Given the description of an element on the screen output the (x, y) to click on. 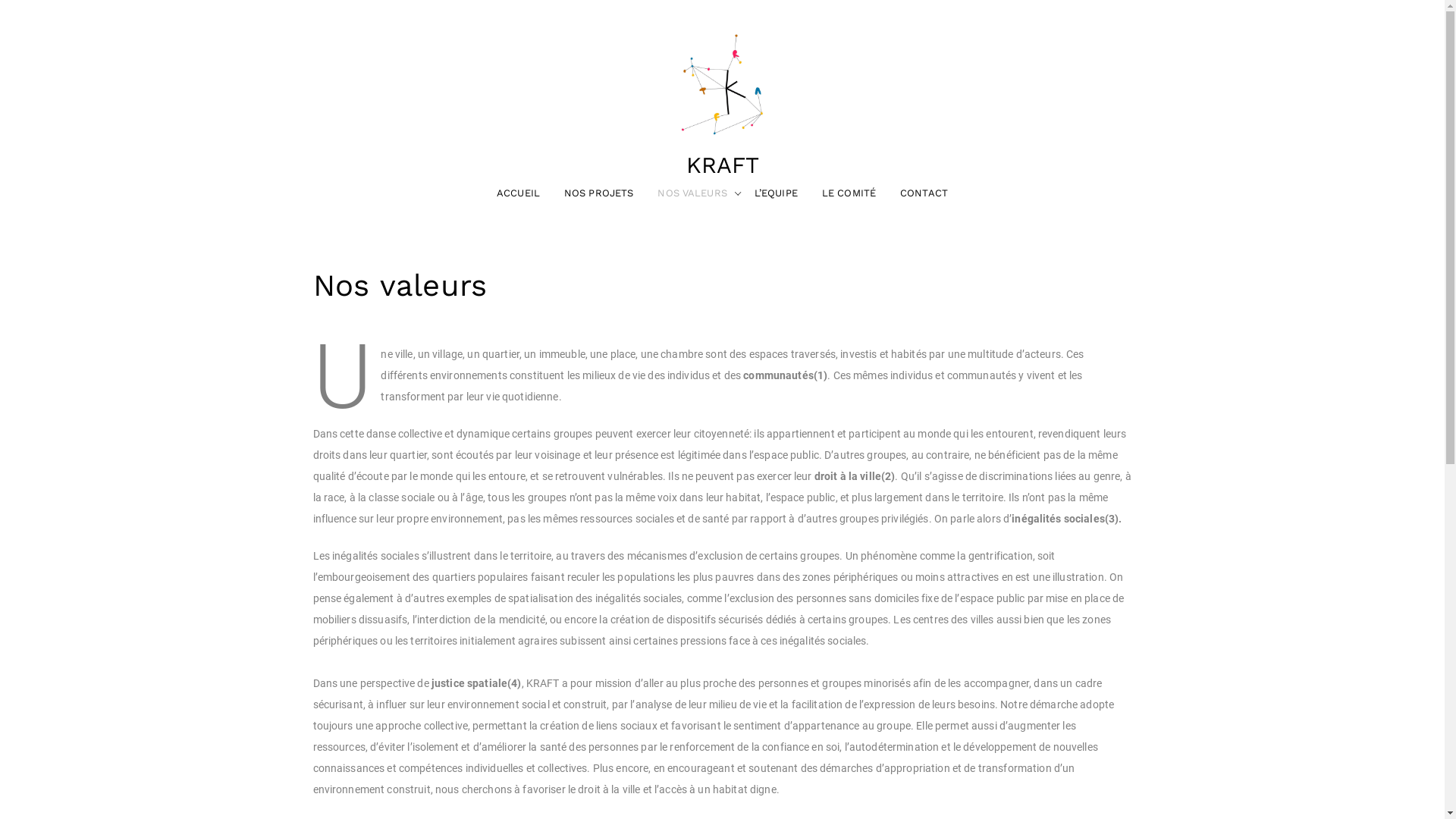
ACCUEIL Element type: text (518, 193)
NOS PROJETS Element type: text (598, 193)
KRAFT Element type: text (721, 164)
NOS VALEURS Element type: text (691, 193)
CONTACT Element type: text (924, 193)
